Given the description of an element on the screen output the (x, y) to click on. 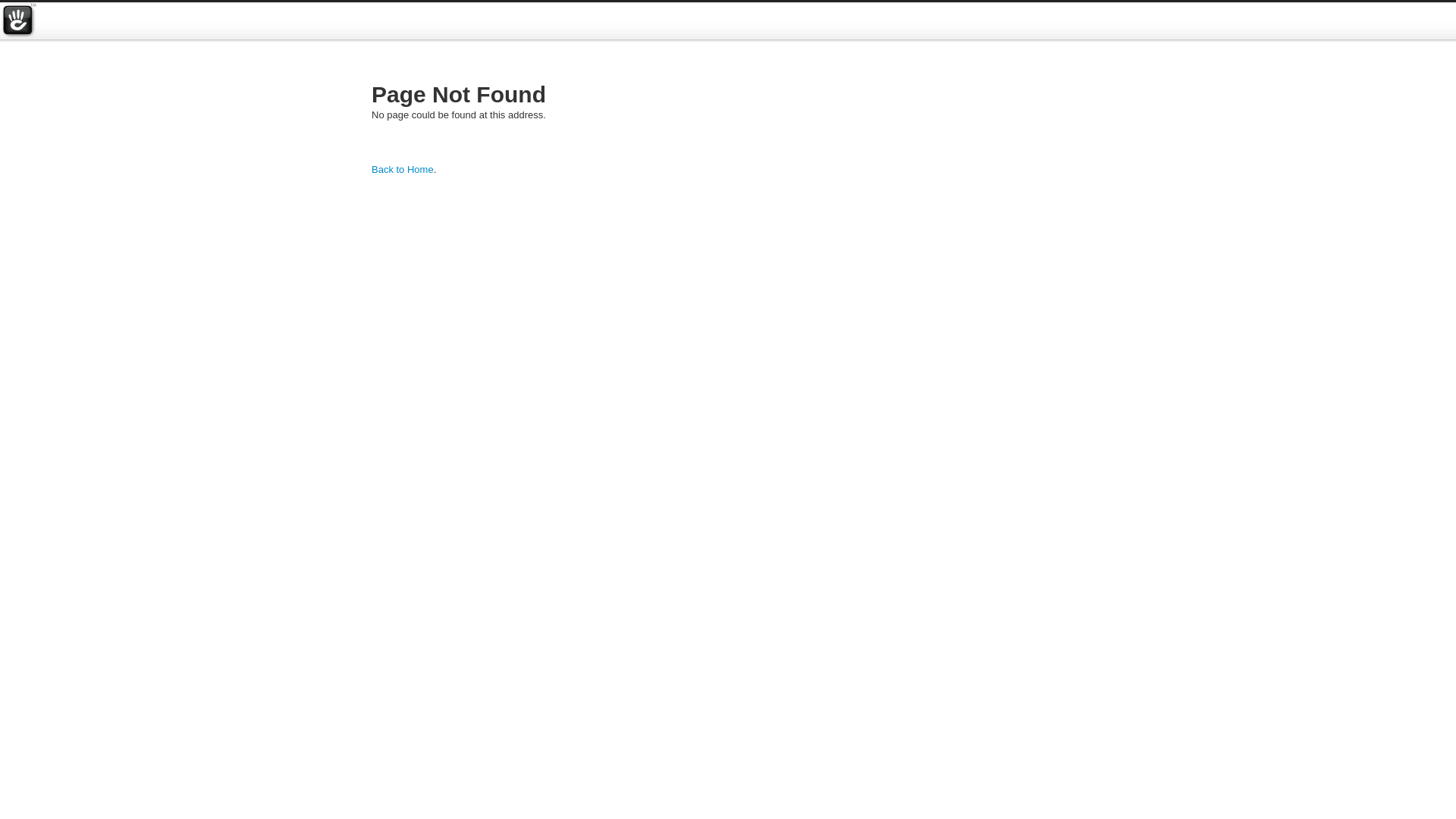
Back to Home Element type: text (402, 169)
concrete5 Element type: hover (18, 20)
